Given the description of an element on the screen output the (x, y) to click on. 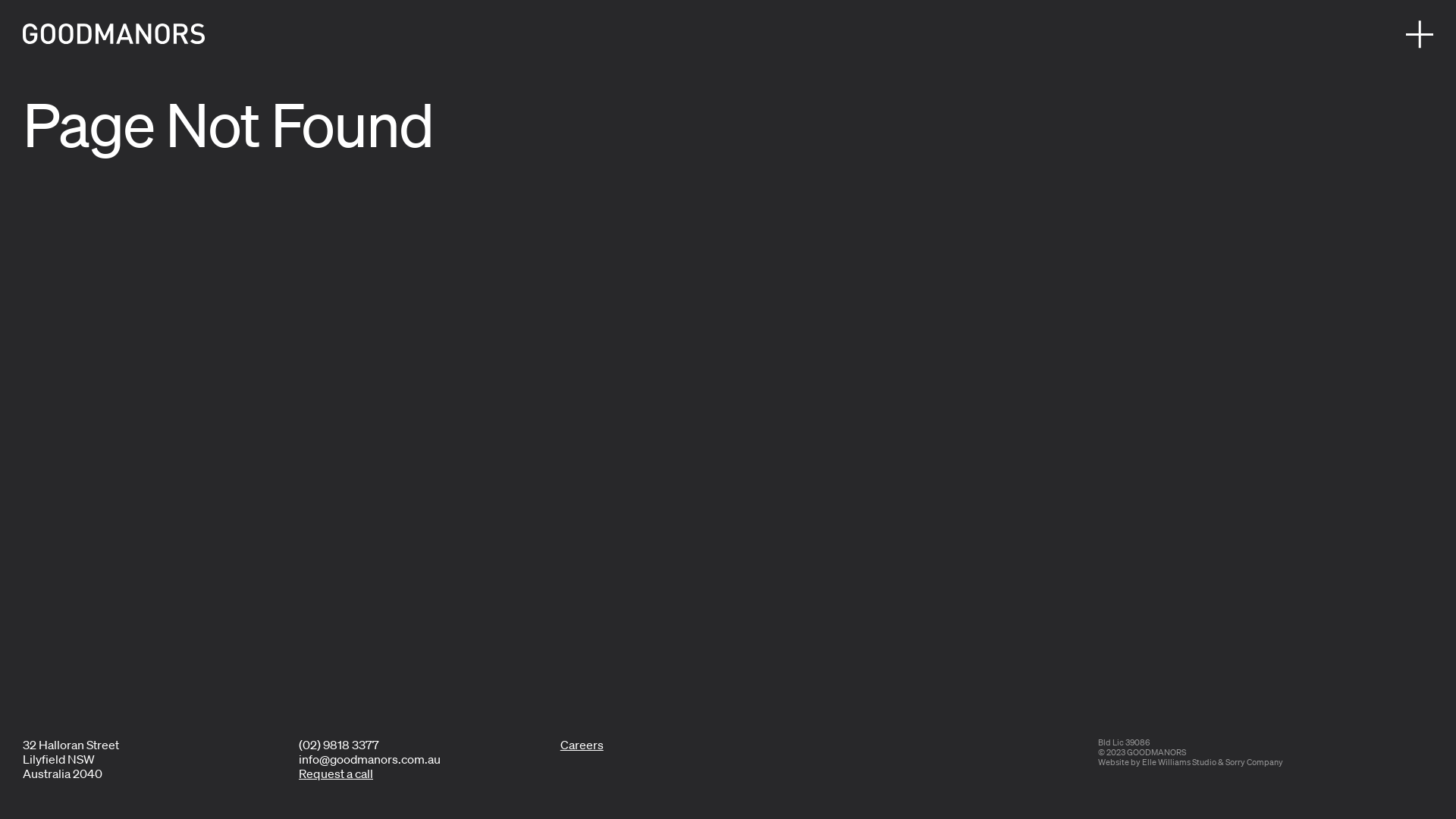
Elle Williams Studio Element type: text (1179, 762)
Sorry Company Element type: text (1254, 762)
Careers Element type: text (581, 744)
(02) 9818 3377 Element type: text (338, 744)
info@goodmanors.com.au Element type: text (369, 758)
Request a call Element type: text (335, 773)
